Given the description of an element on the screen output the (x, y) to click on. 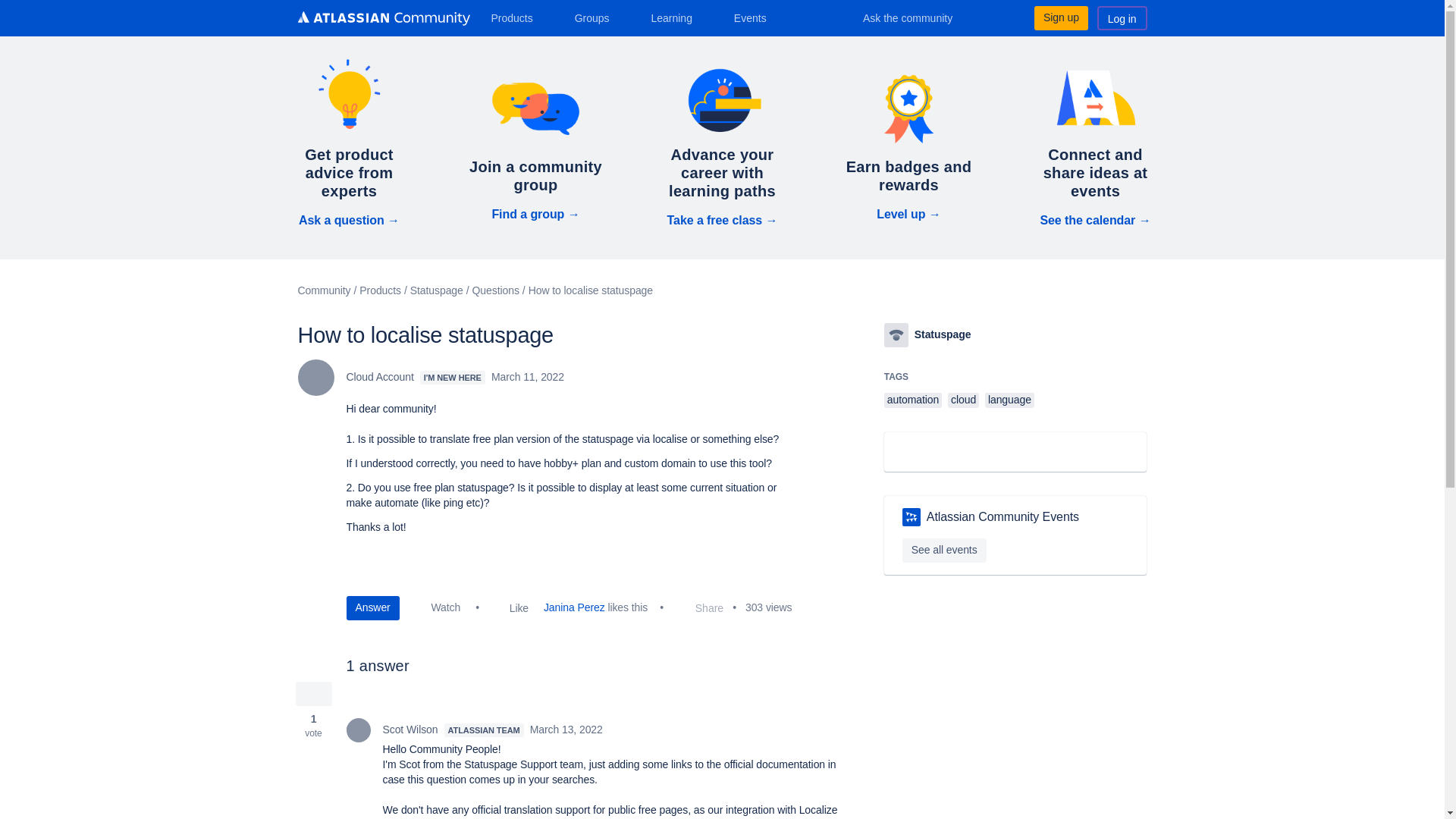
Atlassian Community logo (382, 18)
Learning (676, 17)
Log in (1122, 17)
Sign up (1060, 17)
Ask the community  (917, 17)
Scot Wilson (357, 730)
AUG Leaders (911, 516)
Events (756, 17)
Groups (598, 17)
Statuspage (895, 334)
Atlassian Community logo (382, 19)
Cloud Account (315, 377)
Products (517, 17)
